Given the description of an element on the screen output the (x, y) to click on. 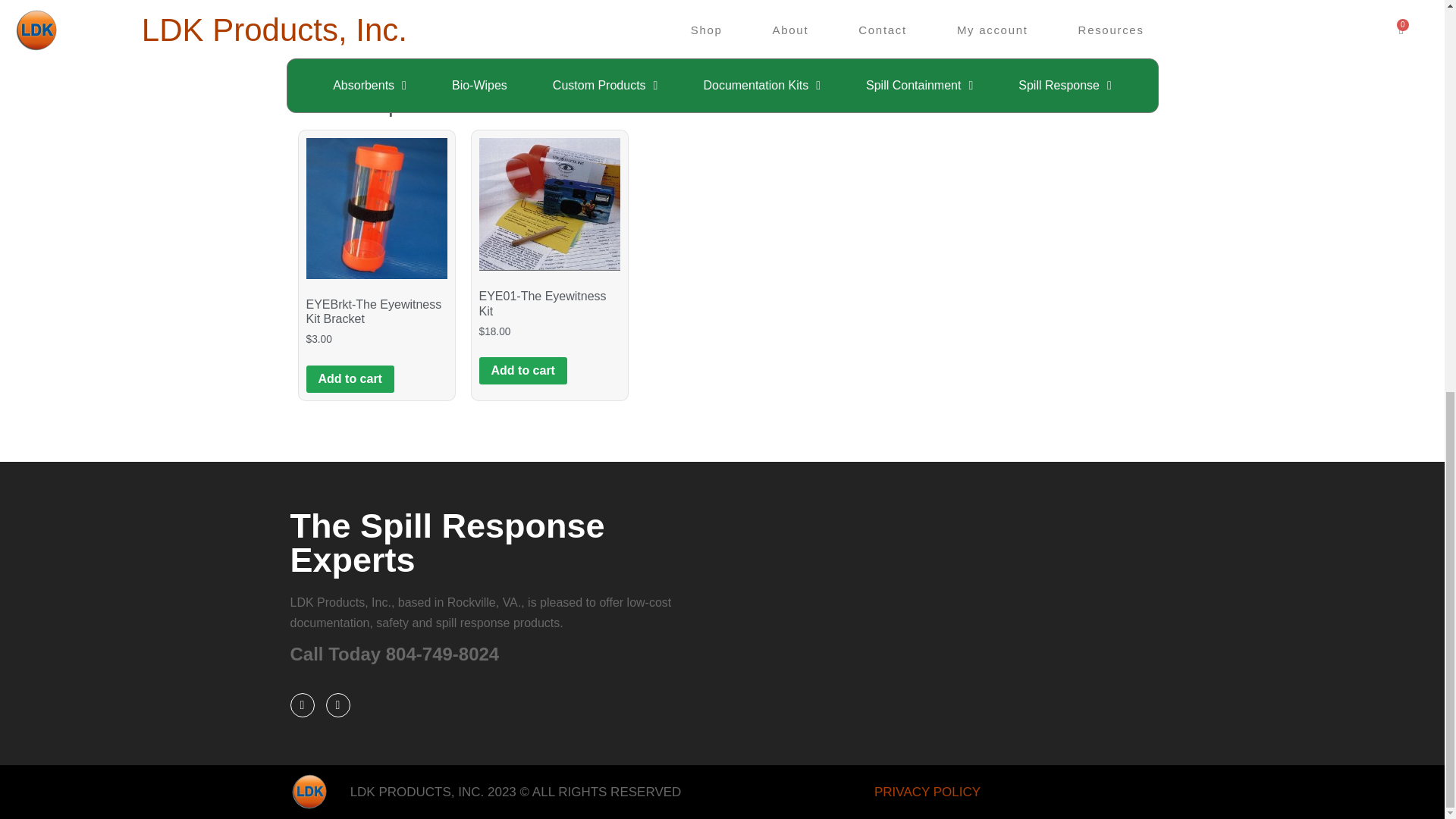
2361 Greystone Ct, Rockville, VA 23146 (938, 613)
